Given the description of an element on the screen output the (x, y) to click on. 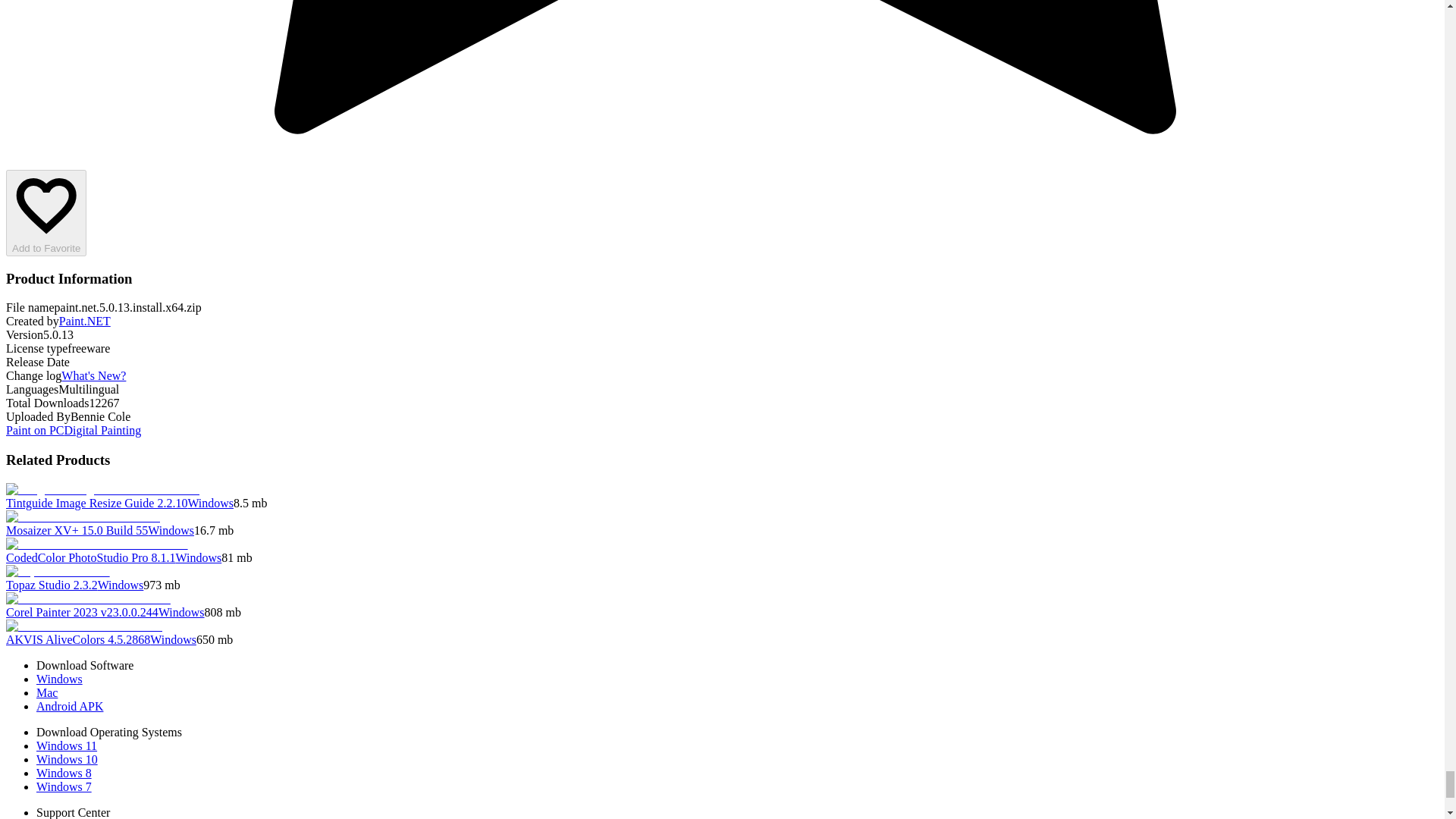
Tintguide Image Resize Guide 2.2.10 (96, 502)
What's New? (93, 375)
Digital Painting (102, 430)
Mac (47, 692)
Windows (209, 502)
Windows (181, 612)
Windows (59, 678)
Corel Painter 2023 v23.0.0.244 (81, 612)
Windows (170, 530)
Paint on PC (34, 430)
AKVIS AliveColors 4.5.2868 (77, 639)
Android APK (69, 706)
Windows (199, 557)
Windows (120, 584)
Topaz Studio 2.3.2 (51, 584)
